Given the description of an element on the screen output the (x, y) to click on. 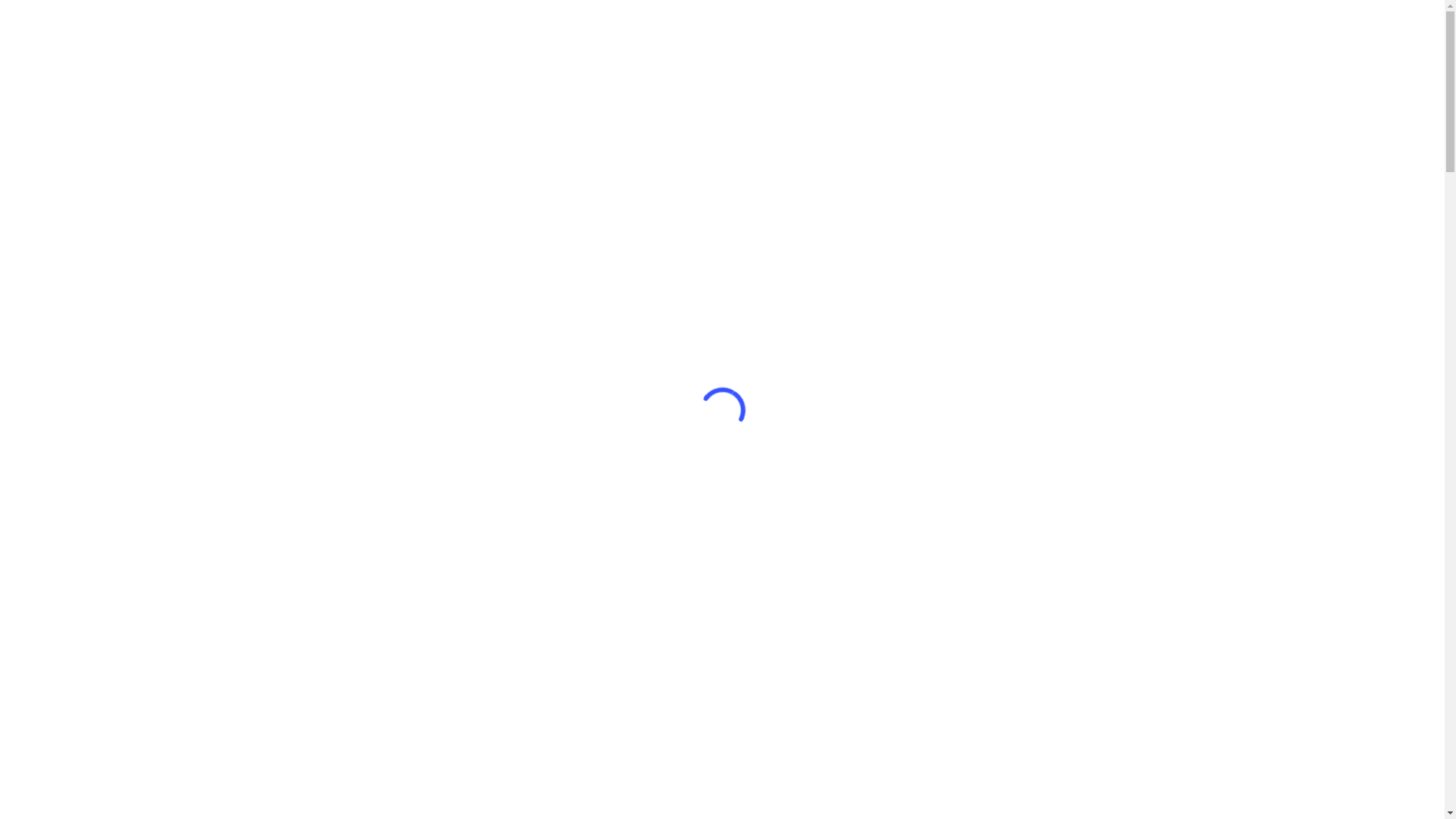
Menu Element type: text (1413, 45)
Kontakt Element type: text (1284, 45)
search Element type: text (1355, 45)
